Given the description of an element on the screen output the (x, y) to click on. 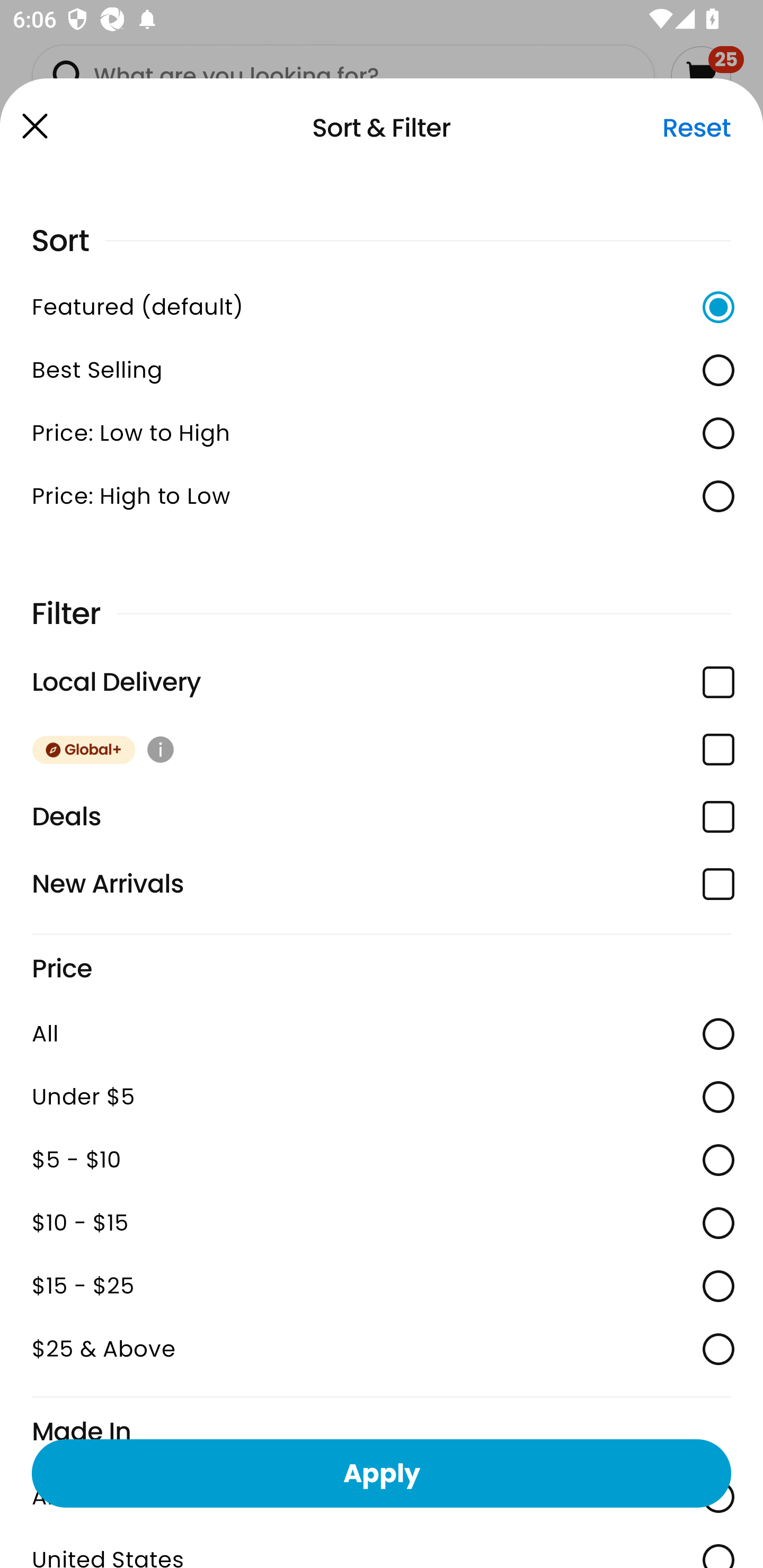
Reset (696, 127)
Apply (381, 1472)
